Given the description of an element on the screen output the (x, y) to click on. 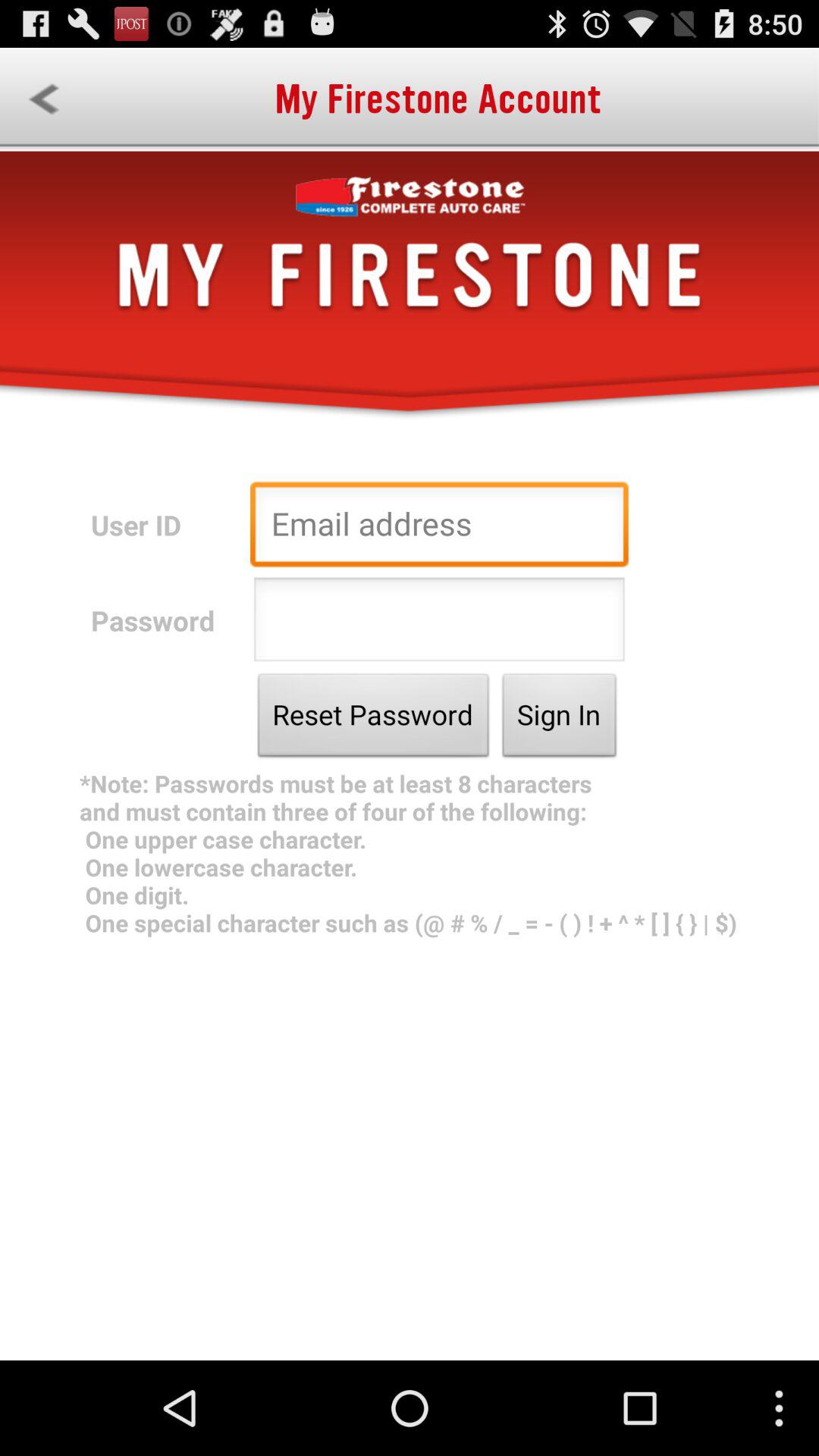
launch the item at the top left corner (43, 99)
